Given the description of an element on the screen output the (x, y) to click on. 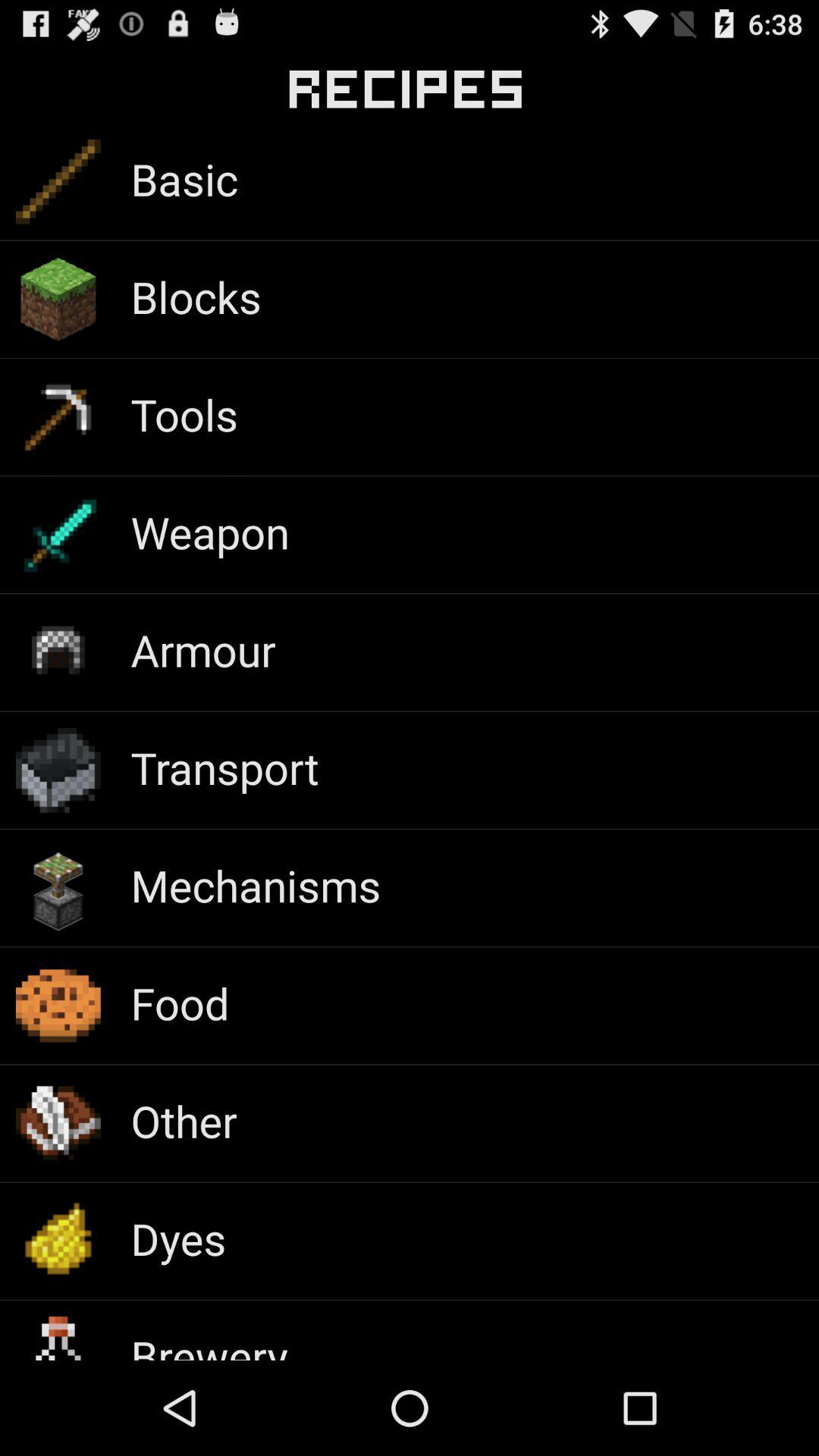
swipe until weapon app (209, 531)
